Given the description of an element on the screen output the (x, y) to click on. 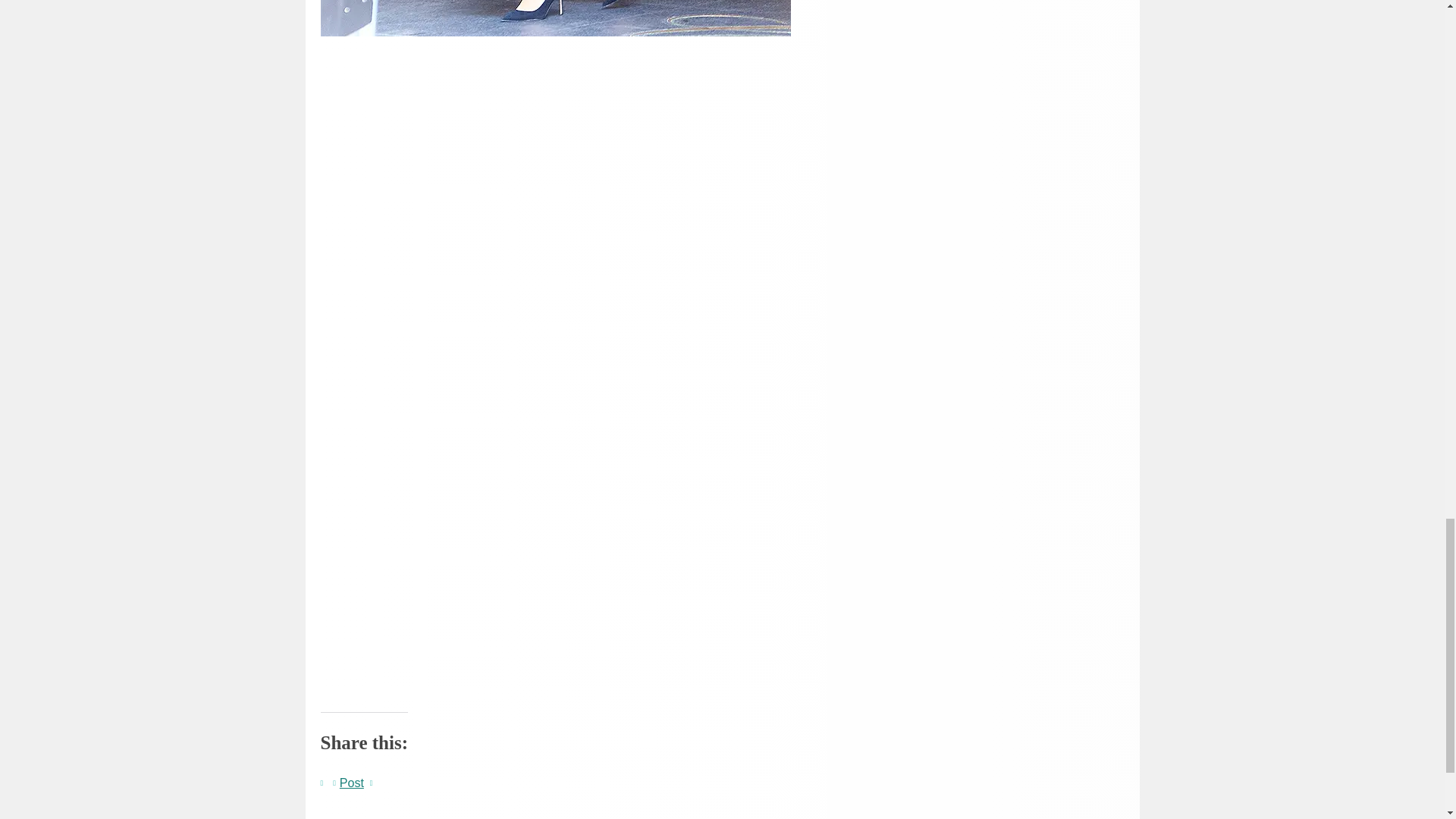
Post (351, 780)
